Given the description of an element on the screen output the (x, y) to click on. 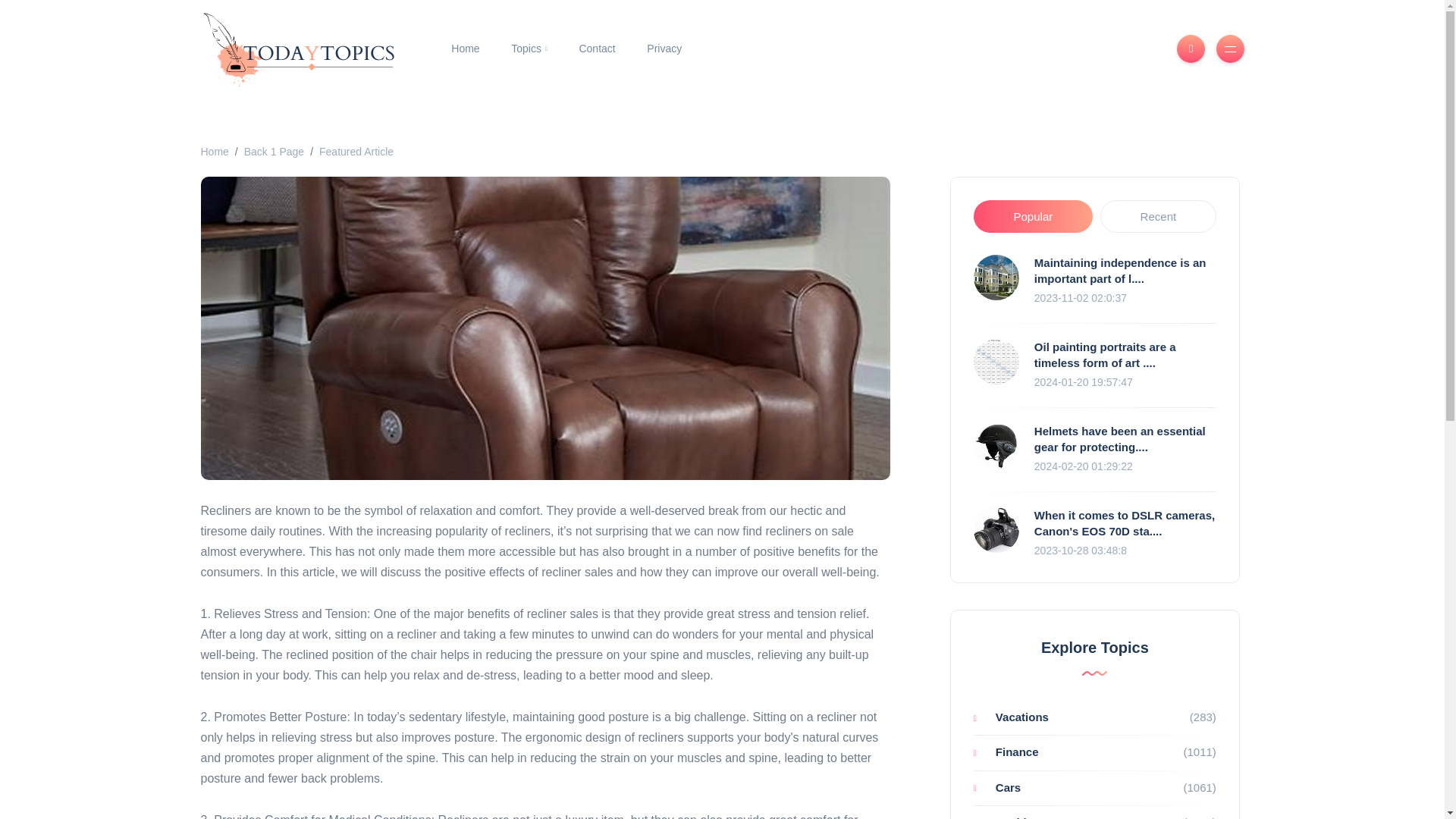
Maintaining independence is an important part of l.... (1120, 270)
Recent (1157, 216)
Helmets have been an essential gear for protecting.... (1119, 439)
Popular (1033, 216)
Back 1 Page (274, 151)
Home (465, 49)
Contact (597, 49)
Oil painting portraits are a timeless form of art .... (1104, 354)
Privacy (663, 49)
Home (214, 151)
When it comes to DSLR cameras, Canon's EOS 70D sta.... (1123, 522)
Topics (528, 49)
